Given the description of an element on the screen output the (x, y) to click on. 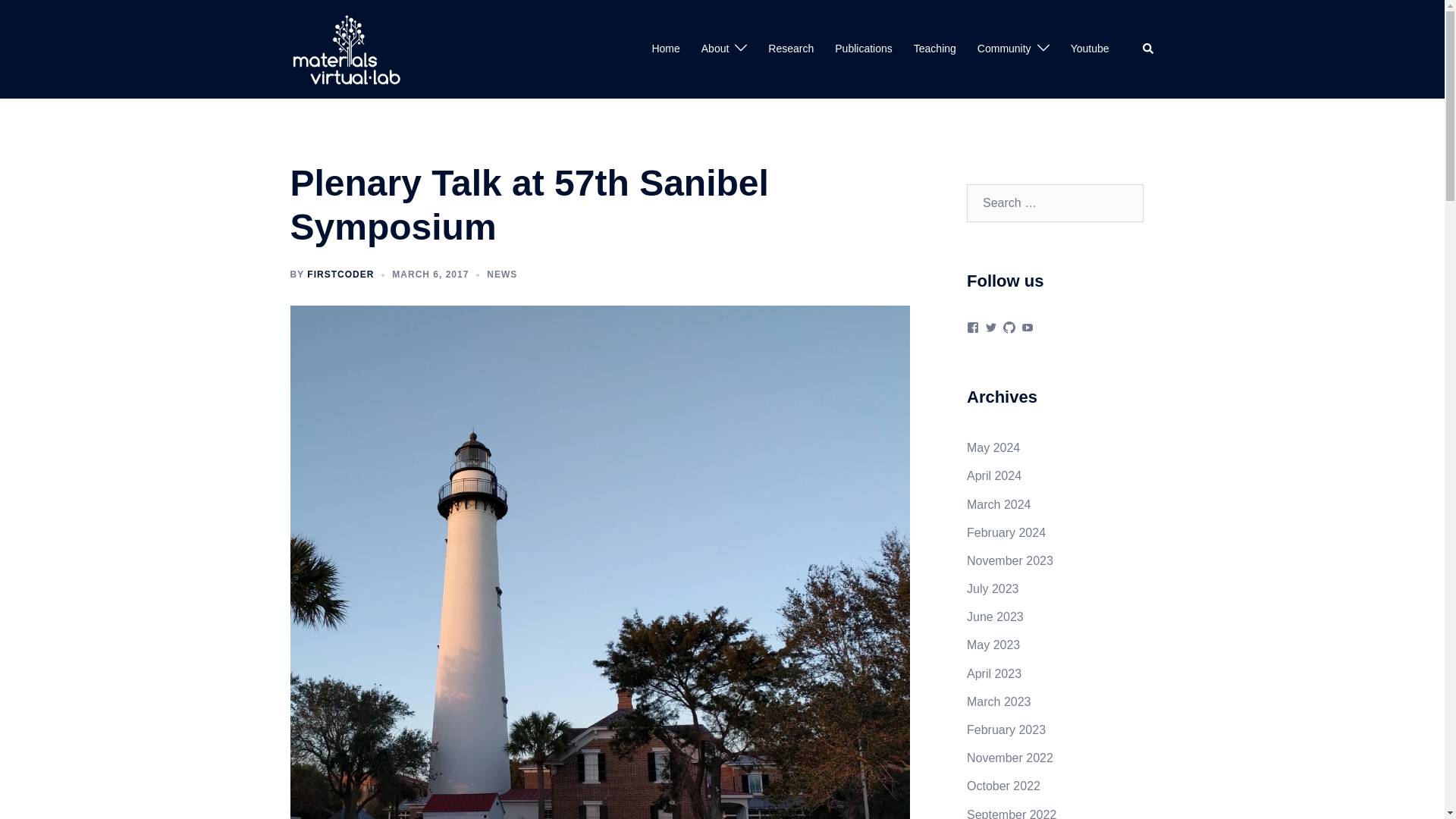
Materials Virtual Lab (346, 47)
Community (1003, 49)
Research (790, 49)
About (715, 49)
Teaching (935, 49)
Home (664, 49)
Youtube (1089, 49)
Publications (863, 49)
Search (1147, 49)
